Given the description of an element on the screen output the (x, y) to click on. 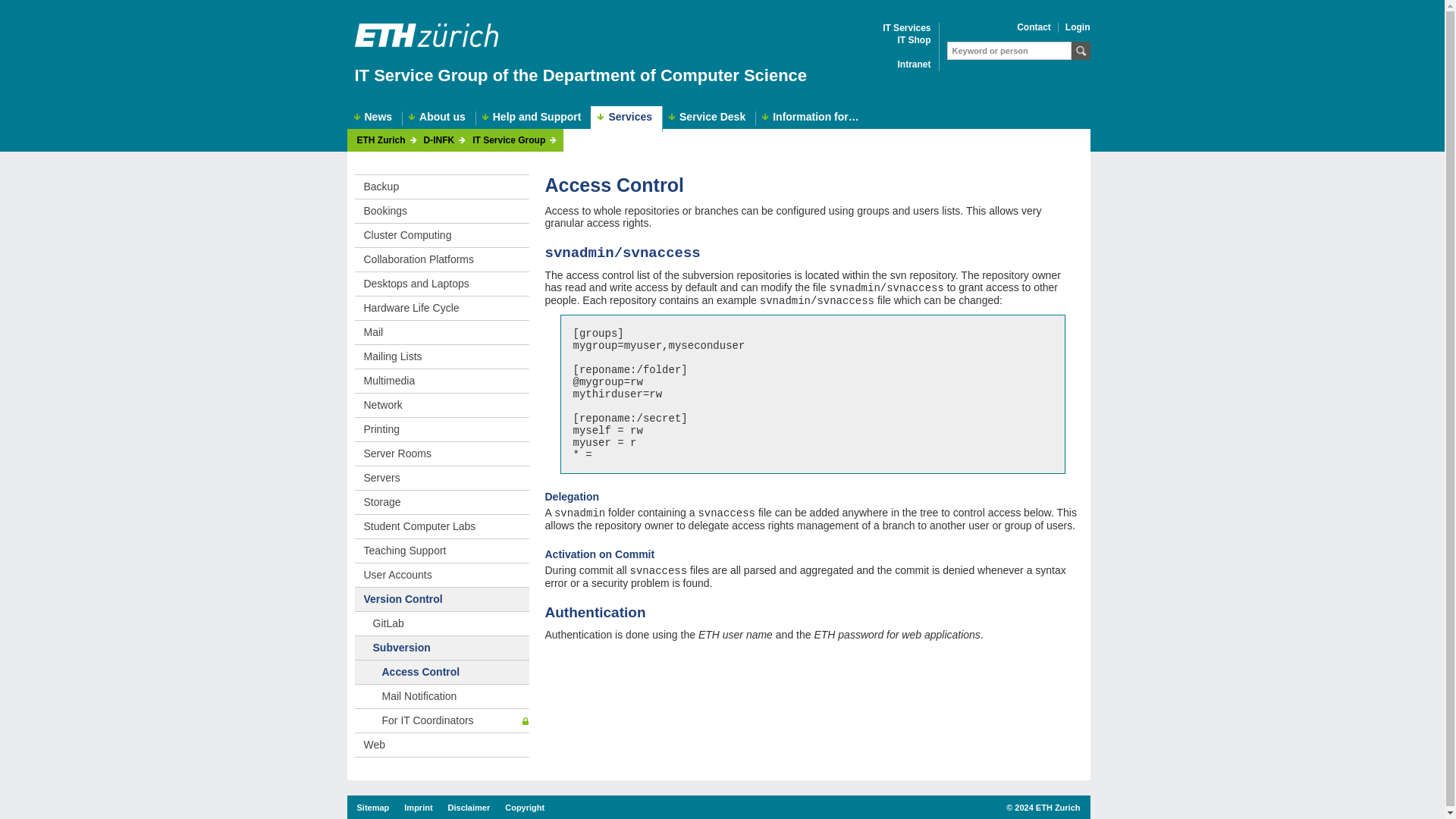
About us (438, 118)
Contact (1033, 27)
Intranet (913, 64)
IT Shop (914, 40)
Login (1077, 27)
News (375, 118)
Services (626, 118)
IT Service Group of the Department of Computer Science (581, 75)
IT Services (906, 28)
Help and Support (534, 118)
